Given the description of an element on the screen output the (x, y) to click on. 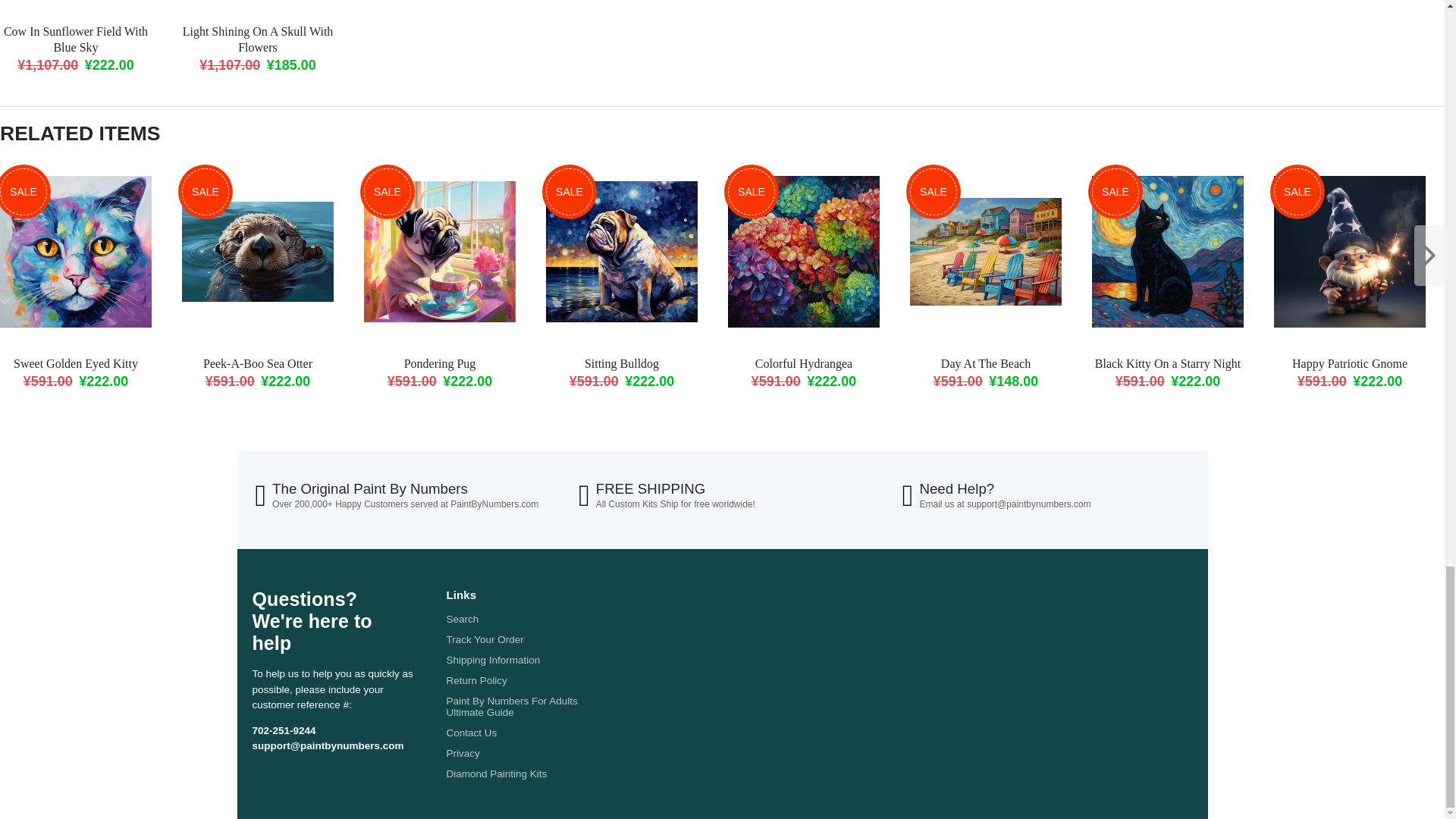
Light Shining On A Skull With Flowers (257, 9)
Cow In Sunflower Field With Blue Sky (75, 9)
